Given the description of an element on the screen output the (x, y) to click on. 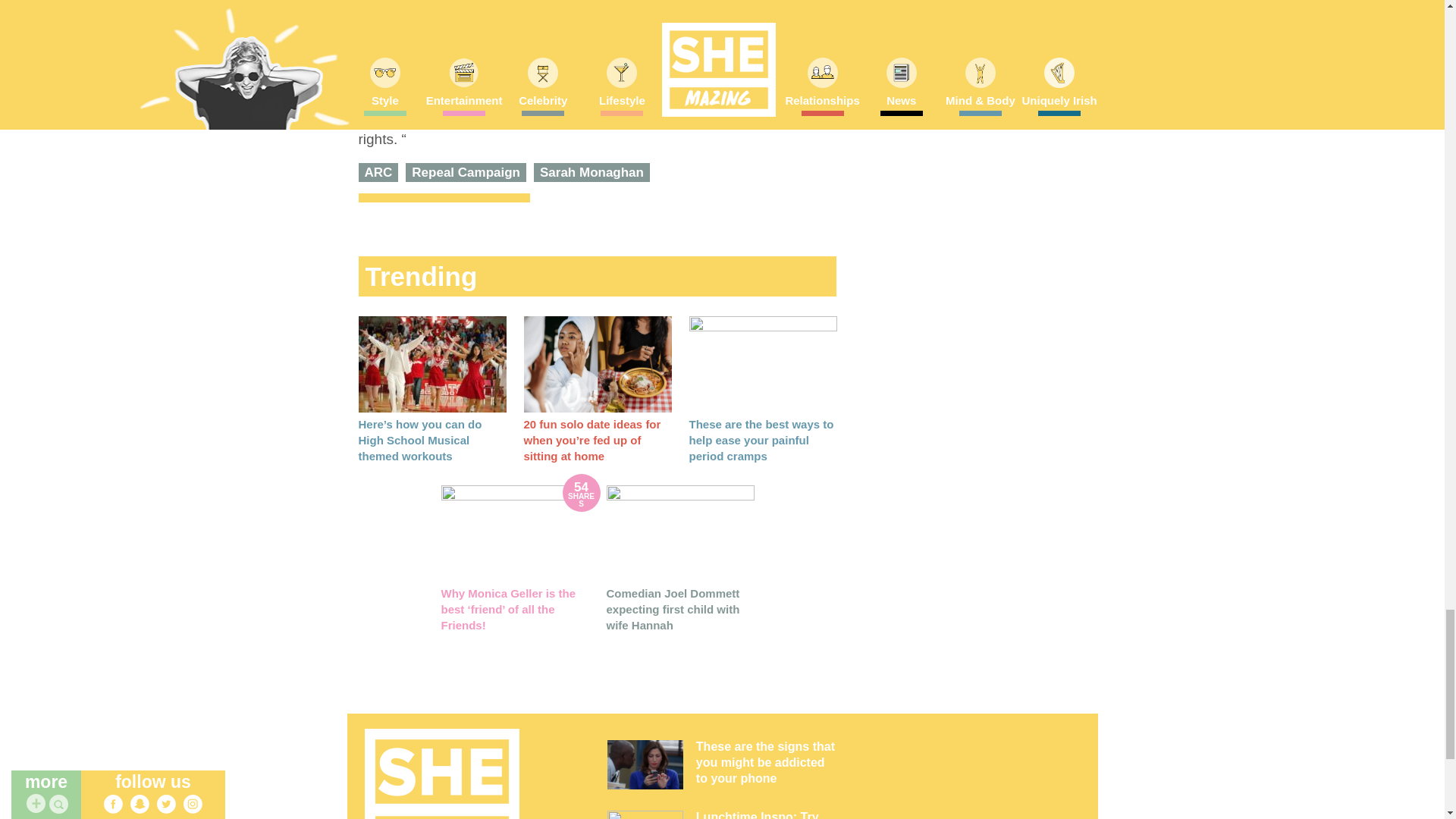
Comedian Joel Dommett expecting first child with wife Hannah (673, 609)
Comedian Joel Dommett expecting first child with wife Hannah (680, 533)
